Given the description of an element on the screen output the (x, y) to click on. 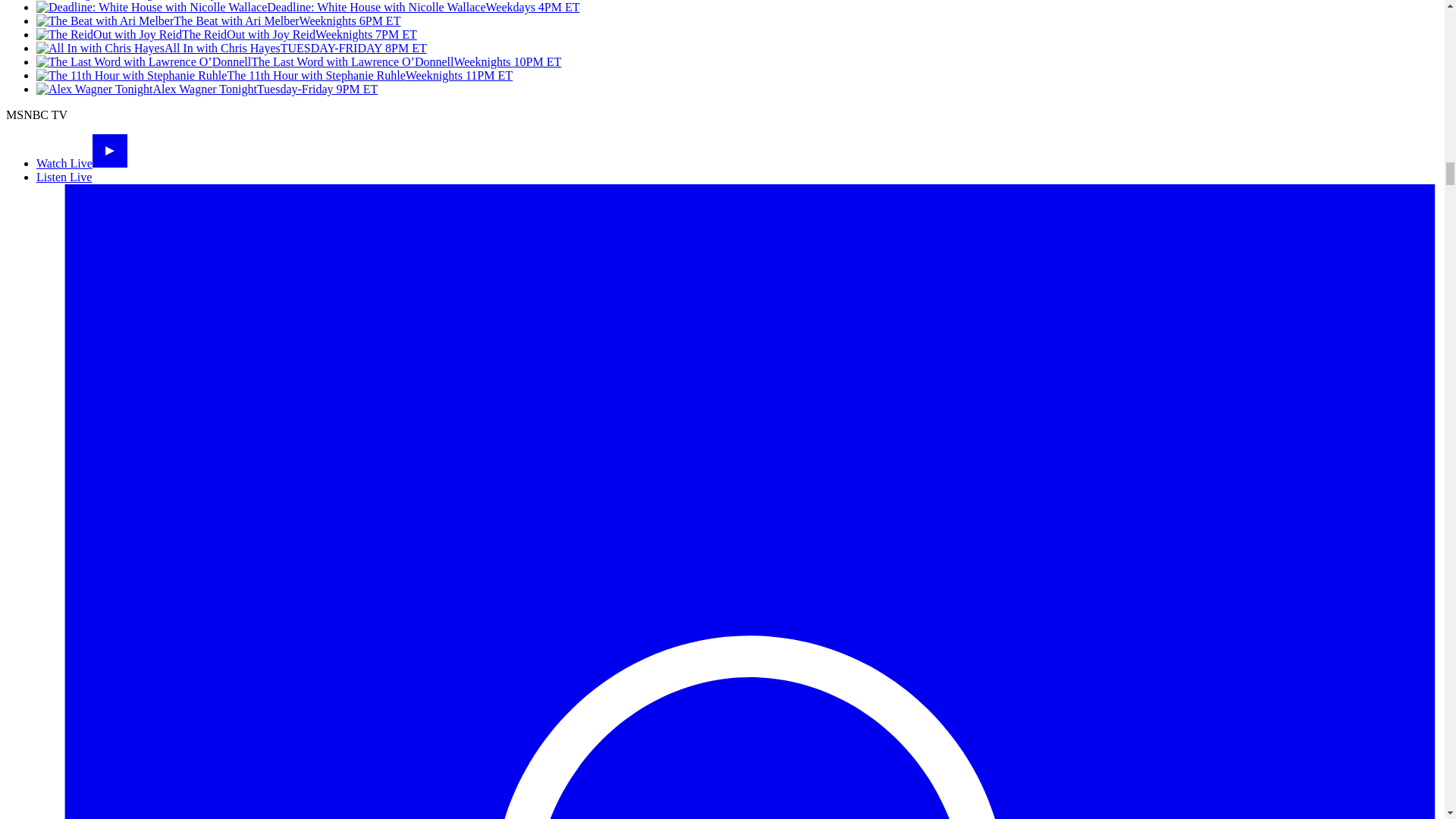
The ReidOut with Joy ReidWeeknights 7PM ET (226, 33)
The 11th Hour with Stephanie RuhleWeeknights 11PM ET (274, 74)
Watch Live (82, 163)
Deadline: White House with Nicolle WallaceWeekdays 4PM ET (307, 6)
Alex Wagner TonightTuesday-Friday 9PM ET (206, 88)
All In with Chris HayesTUESDAY-FRIDAY 8PM ET (231, 47)
The Beat with Ari MelberWeeknights 6PM ET (218, 20)
